Given the description of an element on the screen output the (x, y) to click on. 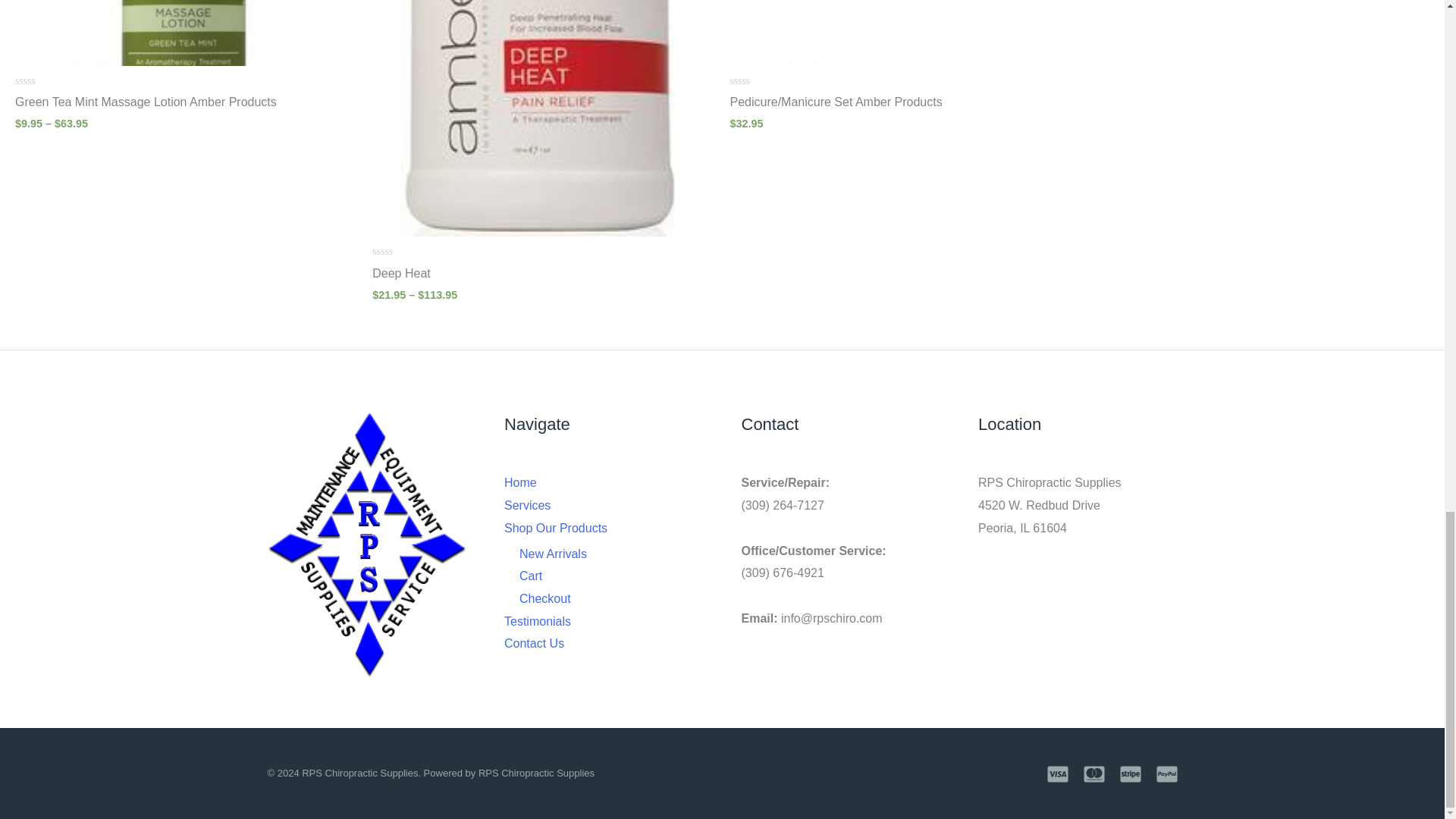
Green Tea Mint Massage Lotion Amber Products (185, 106)
